Given the description of an element on the screen output the (x, y) to click on. 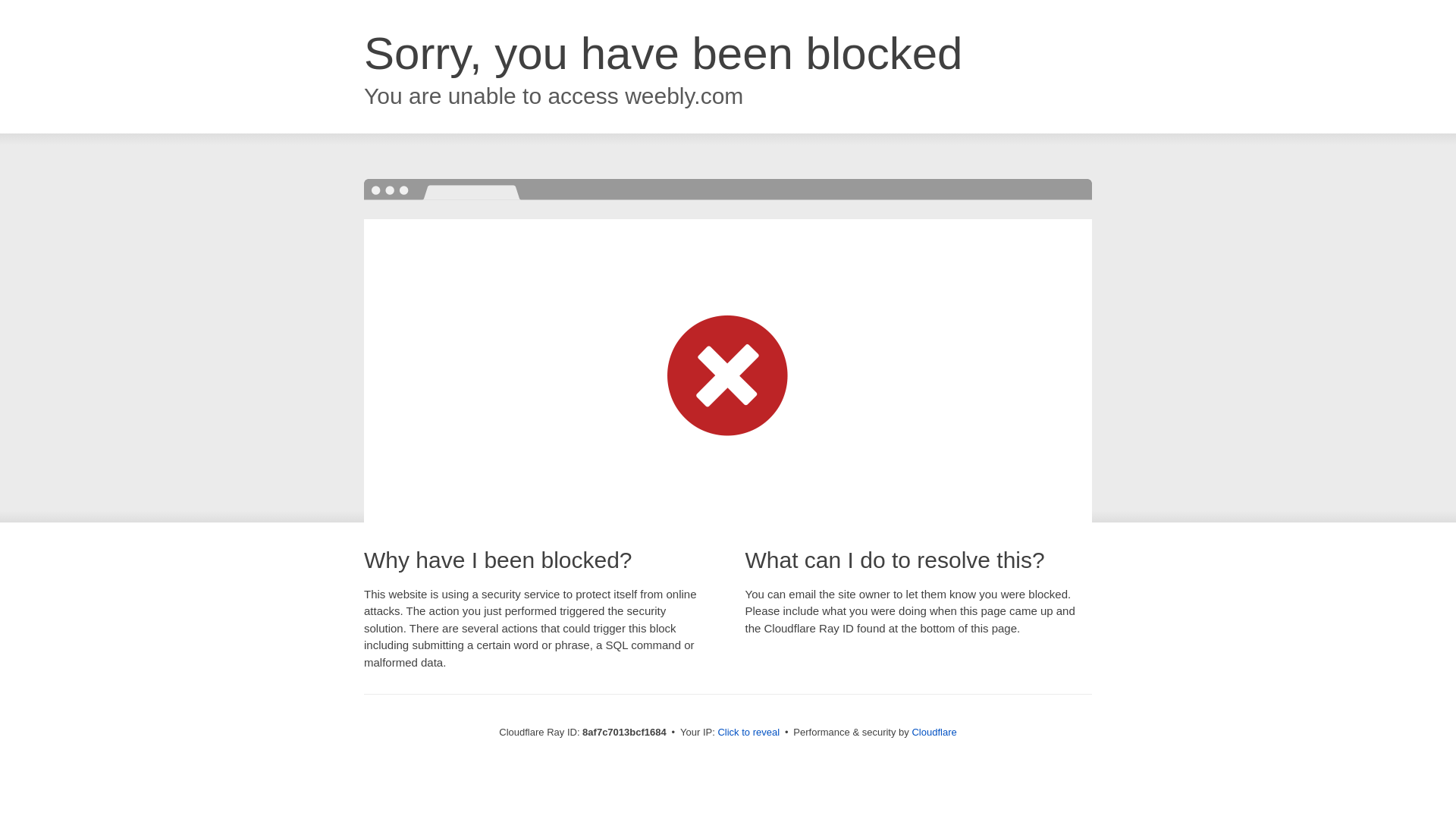
Click to reveal (747, 732)
Cloudflare (933, 731)
